Given the description of an element on the screen output the (x, y) to click on. 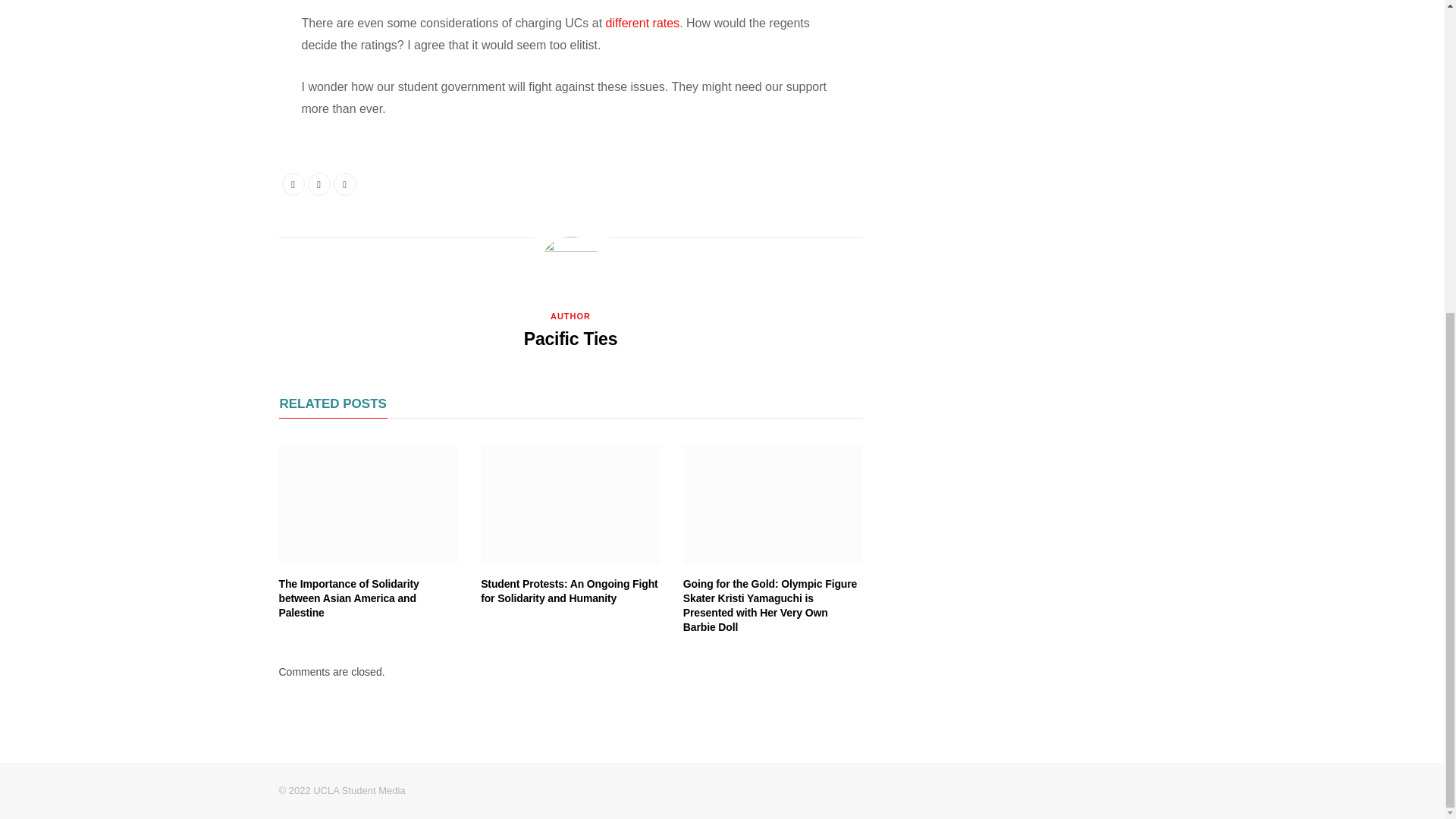
Posts by Pacific Ties (570, 338)
Share on Twitter (318, 183)
Share on Facebook (293, 183)
different rates (642, 22)
Pacific Ties (570, 338)
Email (344, 183)
